Given the description of an element on the screen output the (x, y) to click on. 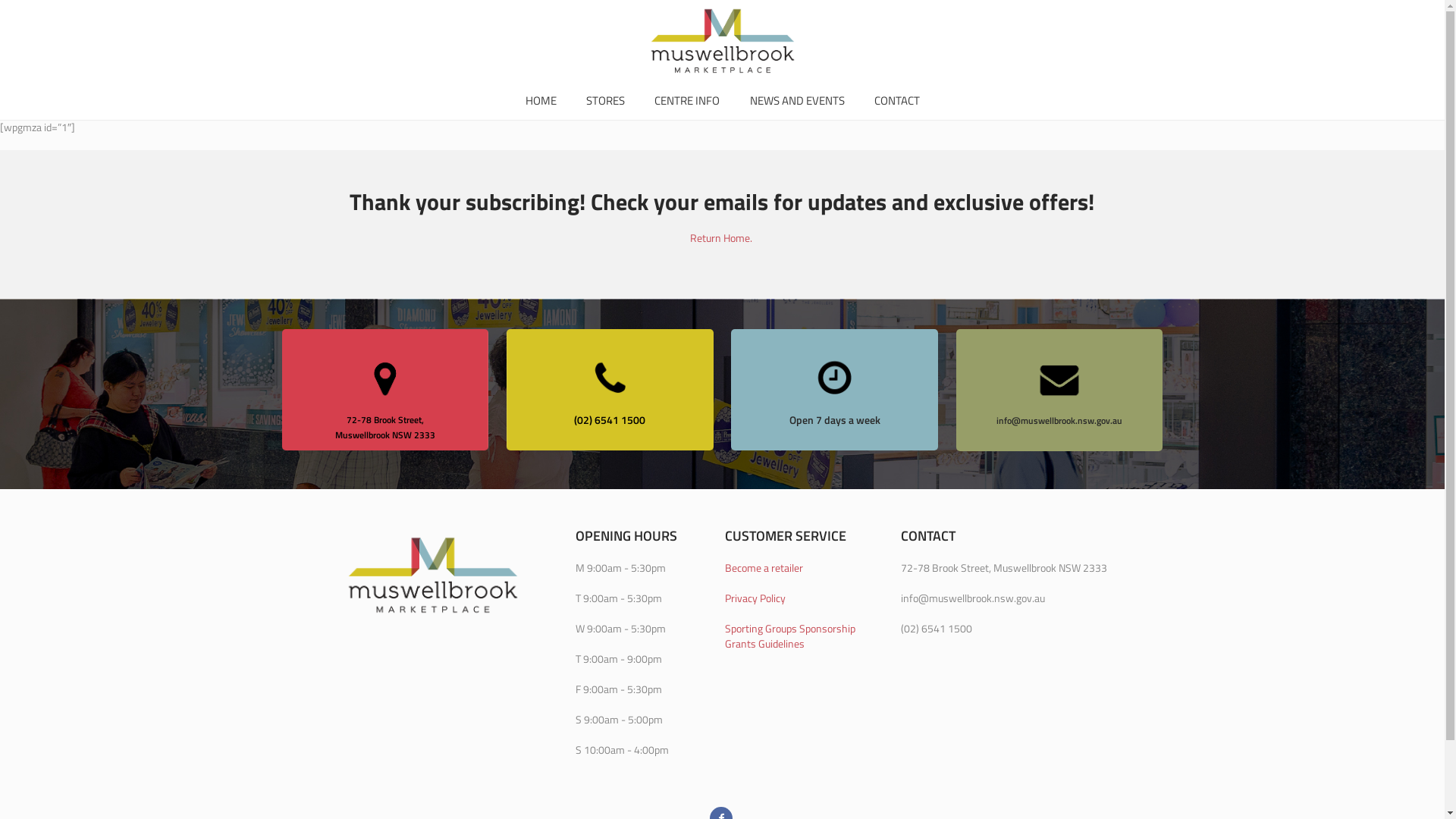
Sporting Groups Sponsorship
Grants Guidelines Element type: text (789, 635)
CENTRE INFO Element type: text (687, 100)
Return Home.  Element type: text (722, 237)
Become a retailer Element type: text (763, 567)
STORES Element type: text (605, 100)
Privacy Policy Element type: text (754, 597)
CONTACT Element type: text (896, 100)
NEWS AND EVENTS Element type: text (797, 100)
HOME Element type: text (540, 100)
